Given the description of an element on the screen output the (x, y) to click on. 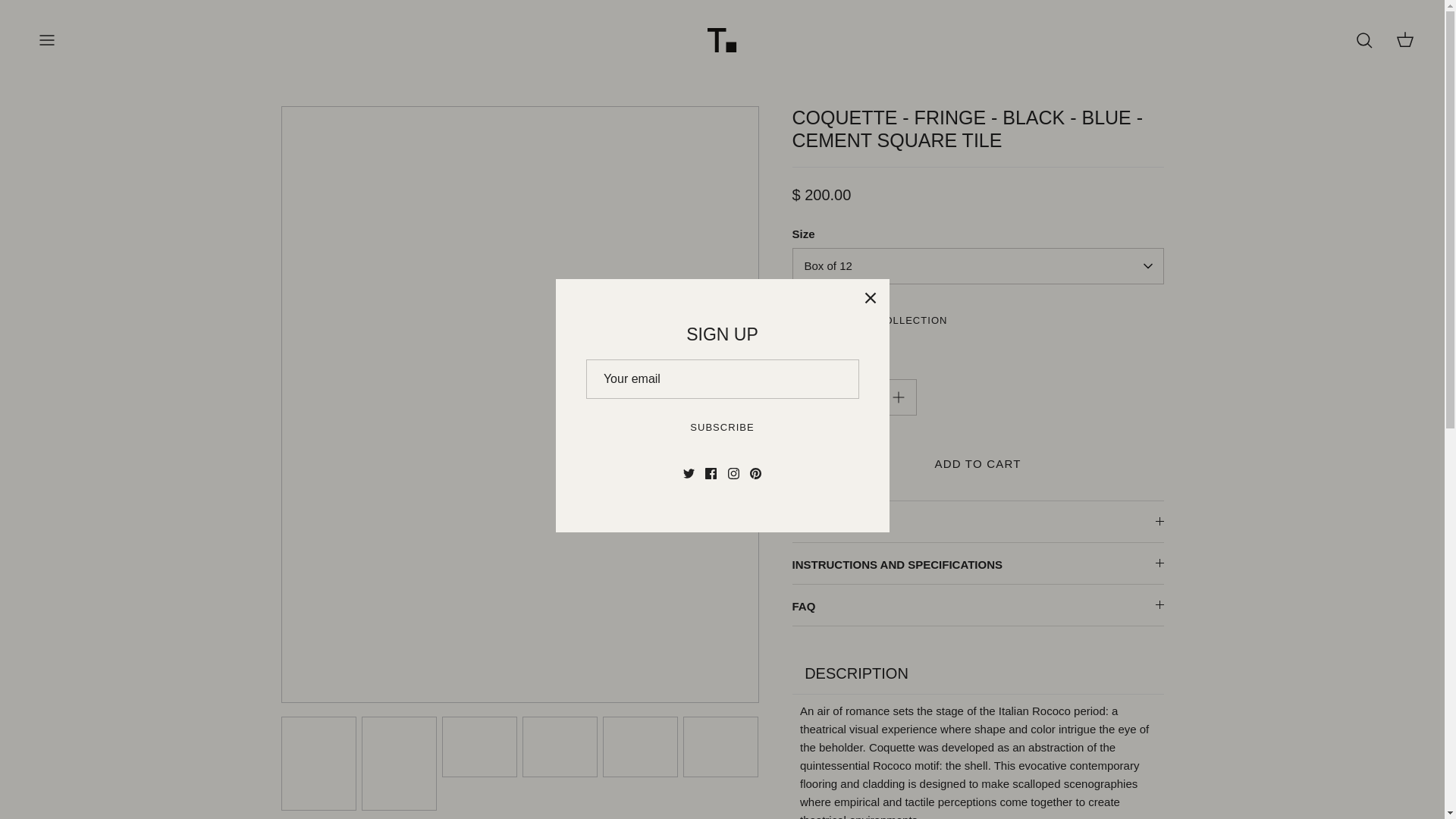
RIGHT (741, 404)
Commercial Wallpaper (144, 128)
Thatcher (721, 39)
Residential Wallpaper (144, 61)
Plus (897, 397)
Fabric (144, 229)
In Stock Wallpaper and Tile (144, 263)
Thatcher (721, 39)
Pillows (144, 195)
Thatcher (721, 39)
Minus (809, 397)
1 (853, 397)
Tile (144, 162)
Removable Wallpaper (144, 94)
